Given the description of an element on the screen output the (x, y) to click on. 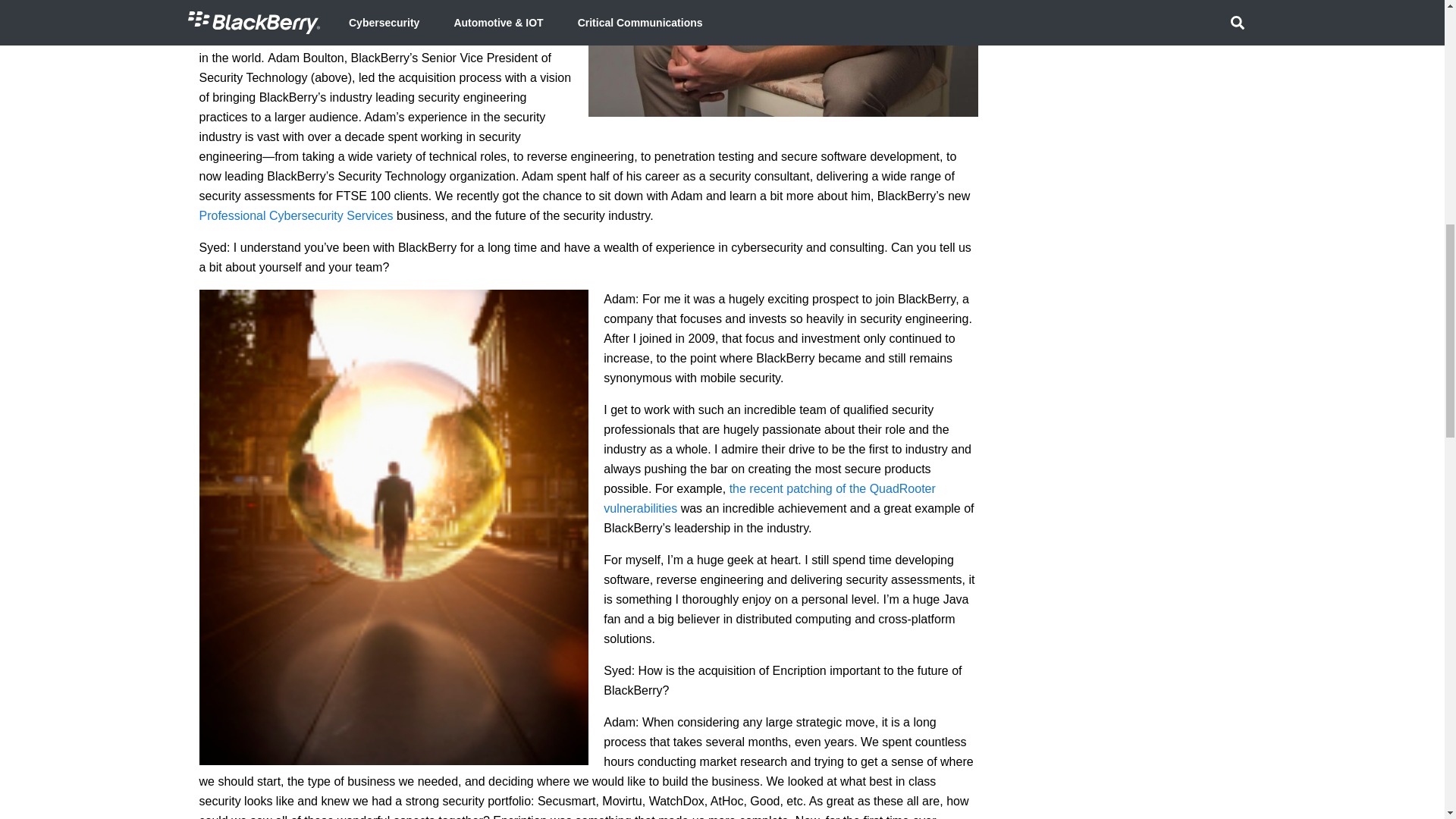
Professional Cybersecurity Services (295, 215)
the recent patching of the QuadRooter vulnerabilities (770, 498)
